Given the description of an element on the screen output the (x, y) to click on. 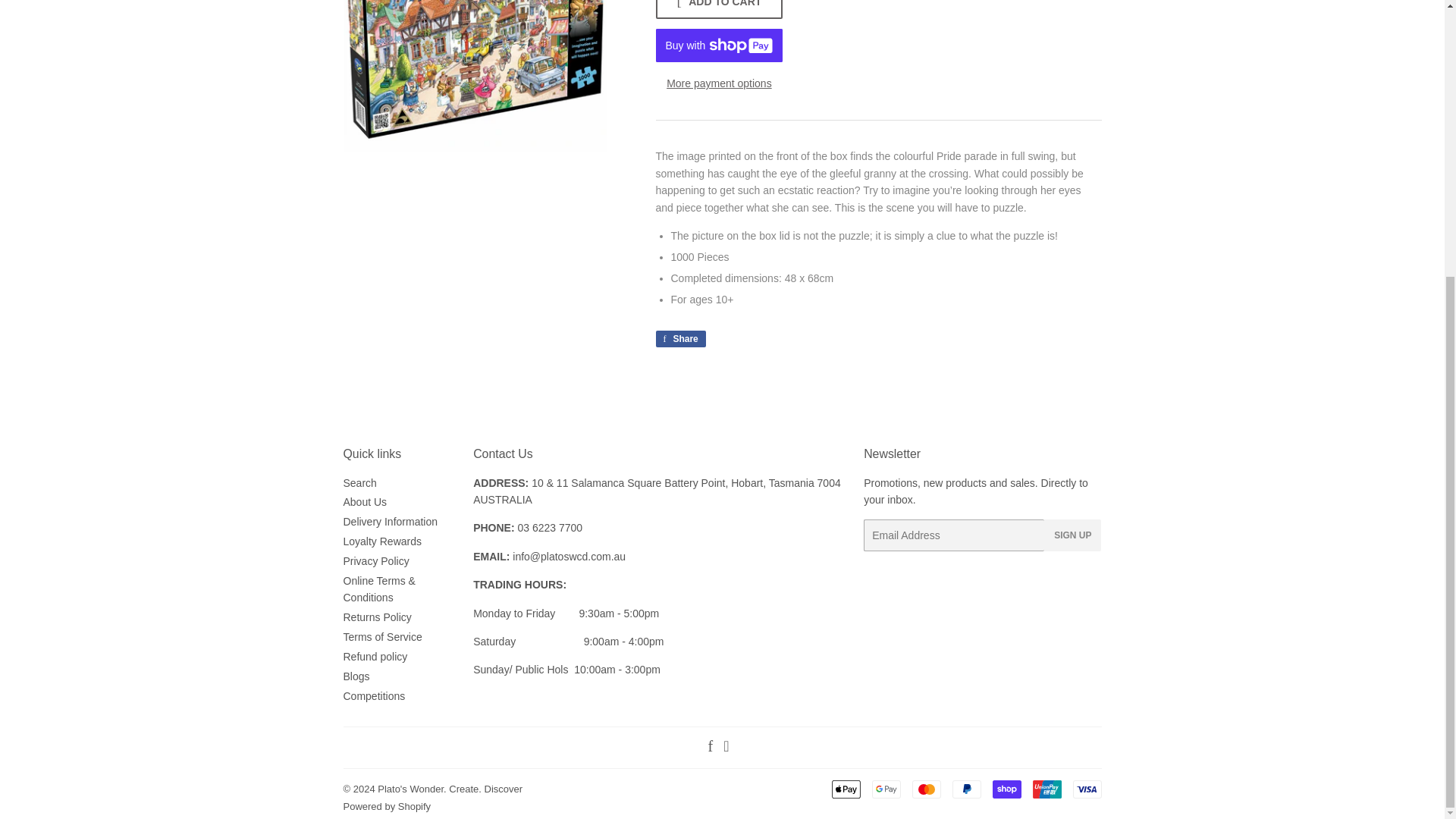
PayPal (966, 789)
Apple Pay (845, 789)
Union Pay (1046, 789)
Google Pay (886, 789)
Visa (1085, 789)
Share on Facebook (679, 338)
Mastercard (925, 789)
Shop Pay (1005, 789)
